Given the description of an element on the screen output the (x, y) to click on. 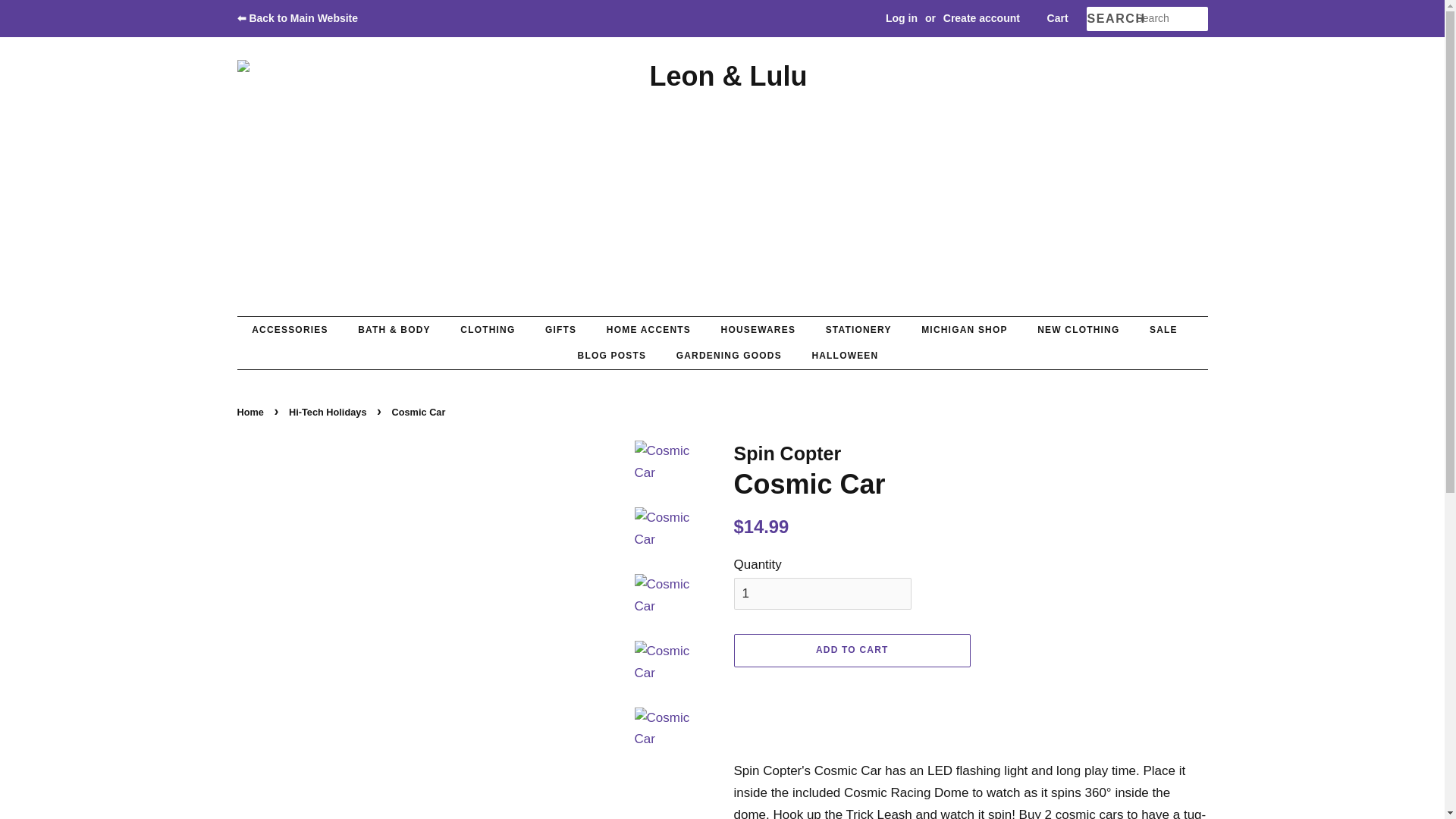
SEARCH (1110, 18)
1 (822, 593)
Cart (1057, 18)
Back to the frontpage (250, 411)
Create account (981, 18)
Log in (901, 18)
